Given the description of an element on the screen output the (x, y) to click on. 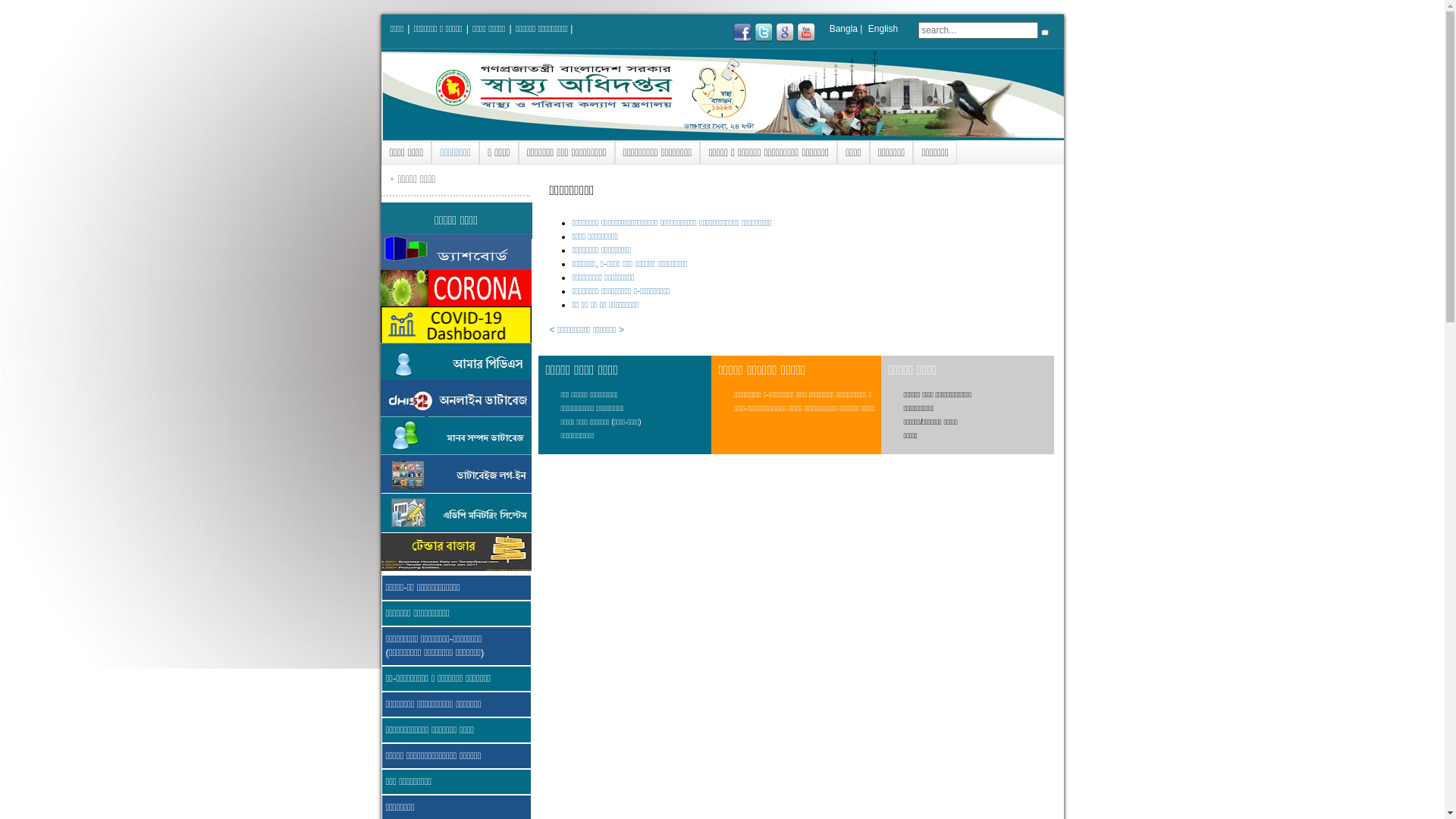
Follow us on Twitter Element type: hover (763, 32)
Reset Element type: text (1044, 32)
Follow us on Facebook Element type: hover (742, 32)
Follow us on Google Element type: hover (784, 32)
Follow us on Youtube Element type: hover (806, 32)
English Element type: text (882, 28)
Bangla | Element type: text (846, 28)
